Given the description of an element on the screen output the (x, y) to click on. 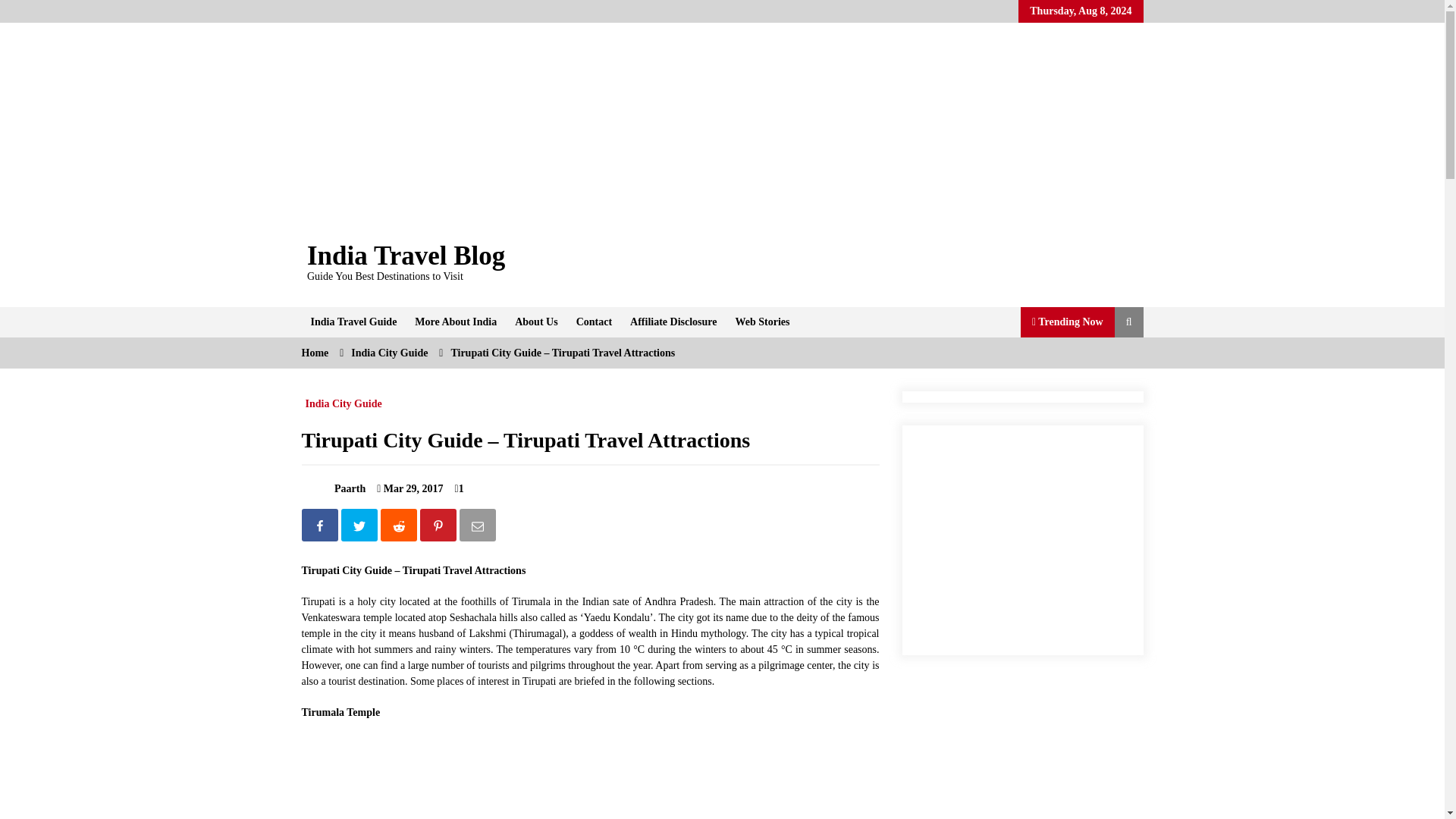
More (455, 322)
Contact (594, 322)
India Travel Blog (406, 255)
Web Stories (762, 322)
India Travel Guide (353, 322)
Tirumala Temple (357, 777)
Pin (440, 527)
Share on Reddit (400, 527)
Tweet (360, 527)
About Us (535, 322)
